Given the description of an element on the screen output the (x, y) to click on. 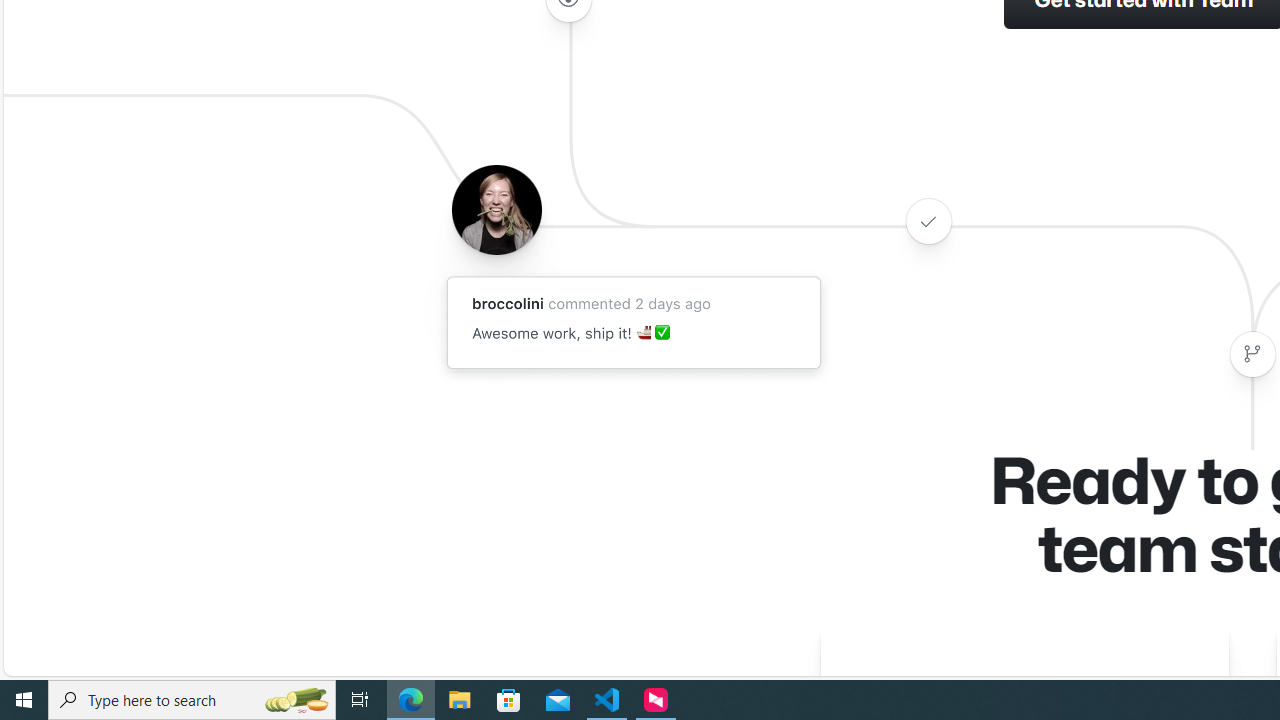
Class: color-fg-muted width-full (1252, 354)
Avatar of the user broccolini (495, 209)
